Given the description of an element on the screen output the (x, y) to click on. 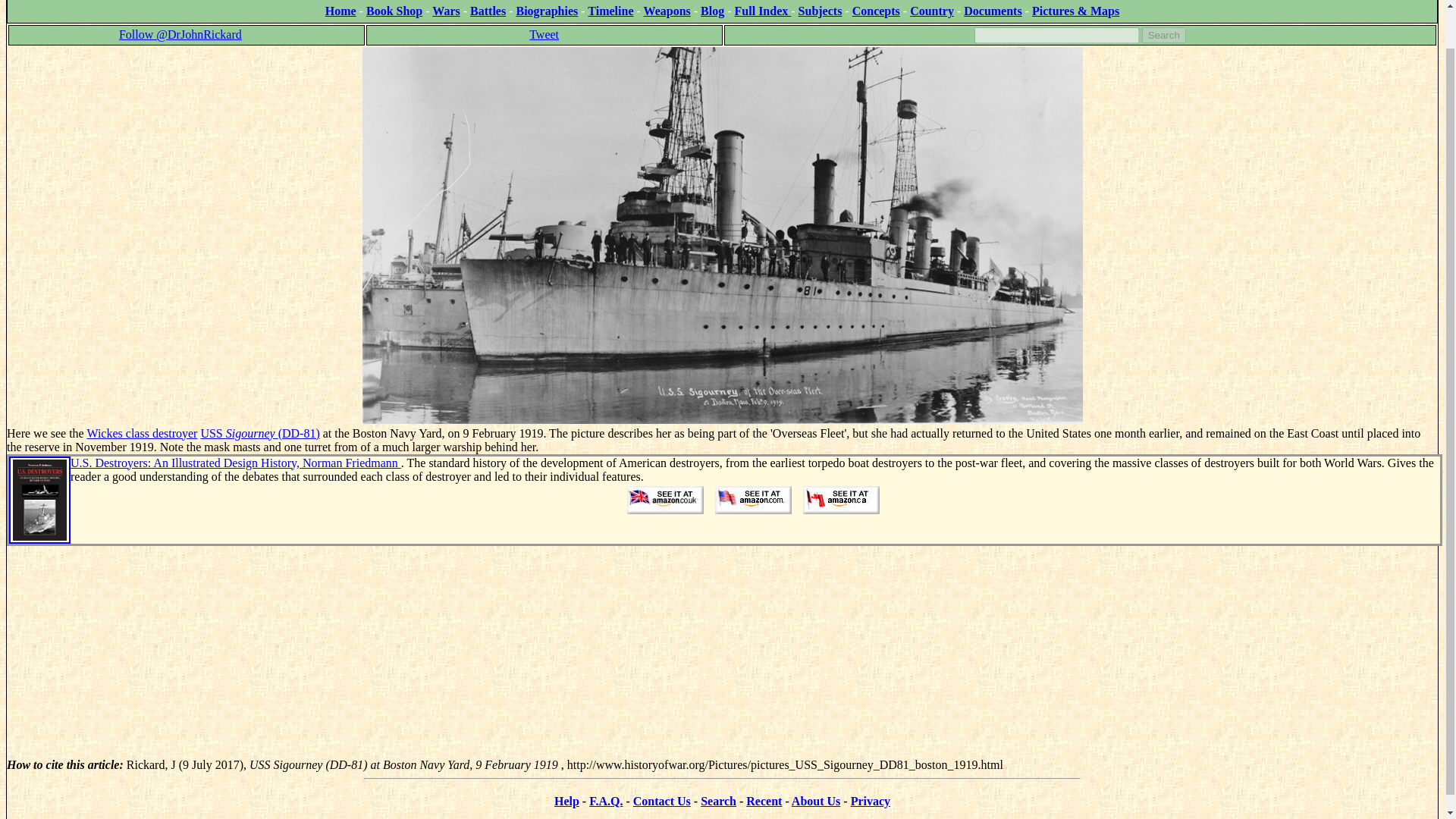
Documents (992, 10)
Index of longer articles (992, 10)
Index of articles on Battles (487, 10)
Concepts (875, 10)
indexes organised by country (931, 10)
Wickes class destroyer (140, 432)
Main Index of articles (763, 10)
Timeline (610, 10)
Index of articles on Weapons and military units (666, 10)
Special Subject Indexes (820, 10)
Privacy (869, 800)
Search (1163, 35)
About Us (816, 800)
Search (1163, 35)
Recent (763, 800)
